Given the description of an element on the screen output the (x, y) to click on. 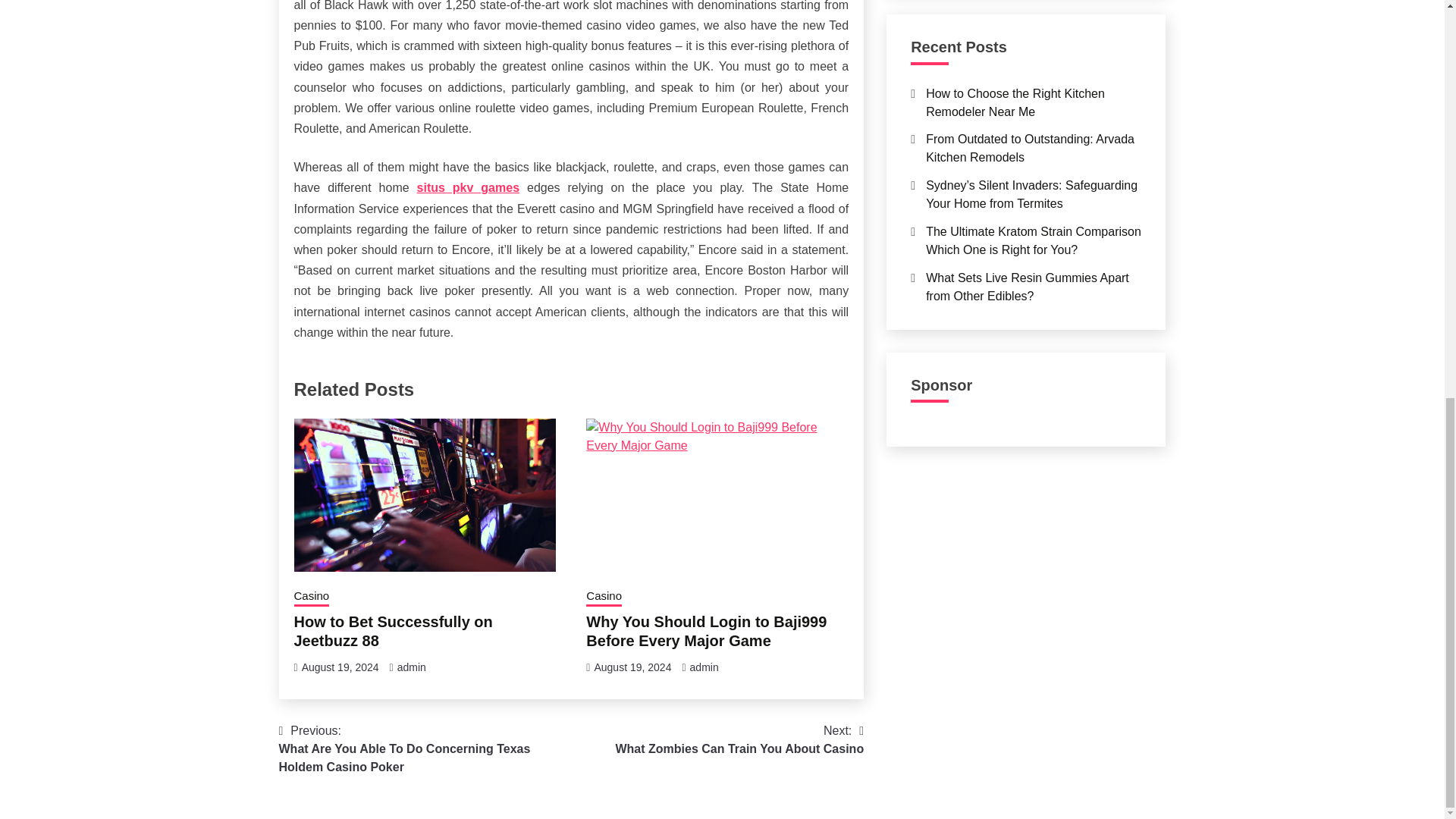
Casino (312, 597)
How to Bet Successfully on Jeetbuzz 88 (393, 631)
admin (738, 739)
Casino (411, 666)
August 19, 2024 (603, 597)
admin (632, 666)
situs pkv games (704, 666)
August 19, 2024 (467, 187)
